Given the description of an element on the screen output the (x, y) to click on. 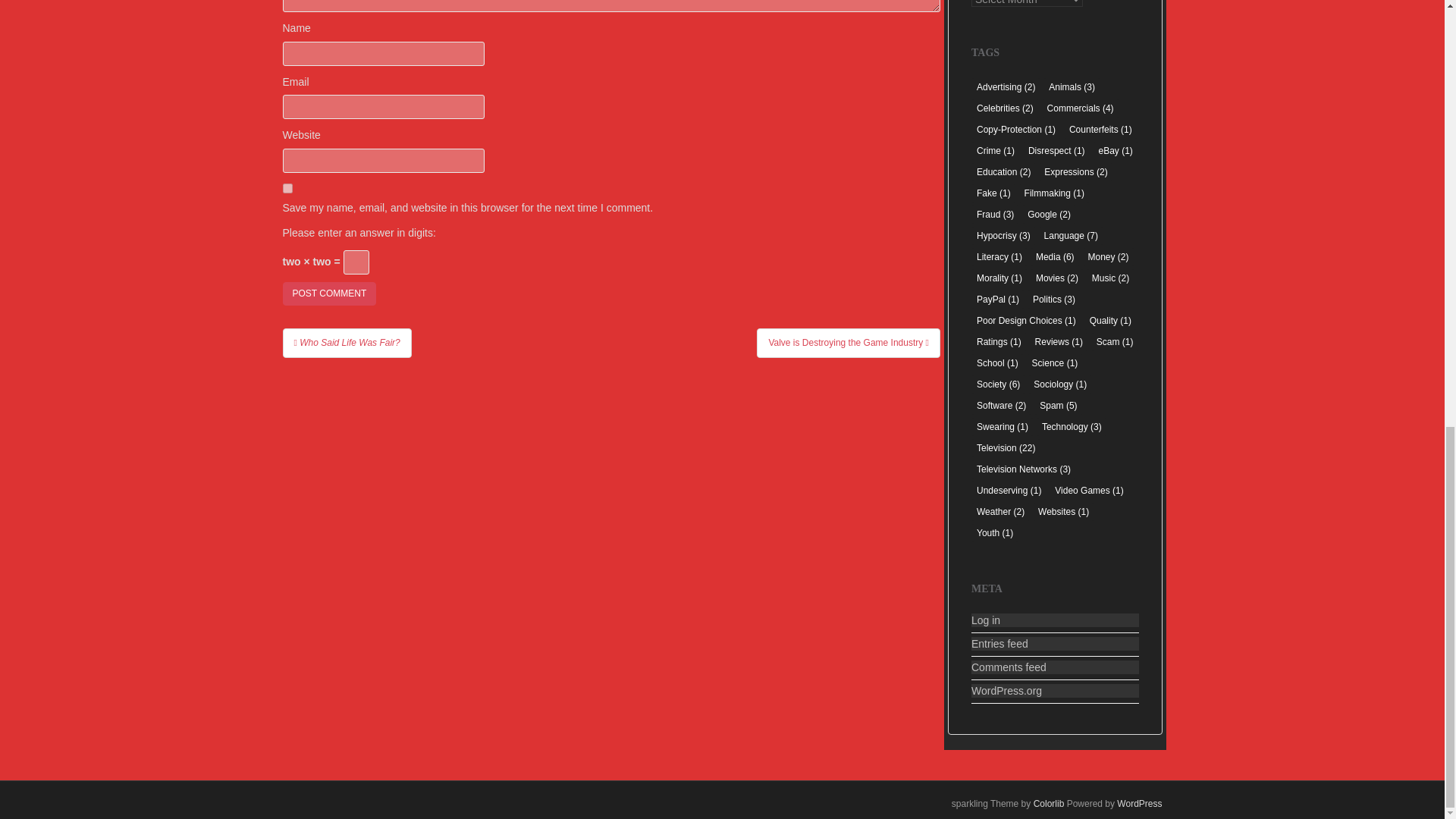
Who Said Life Was Fair? (346, 342)
Post Comment (328, 293)
Valve is Destroying the Game Industry (848, 342)
Post Comment (328, 293)
yes (287, 188)
